Given the description of an element on the screen output the (x, y) to click on. 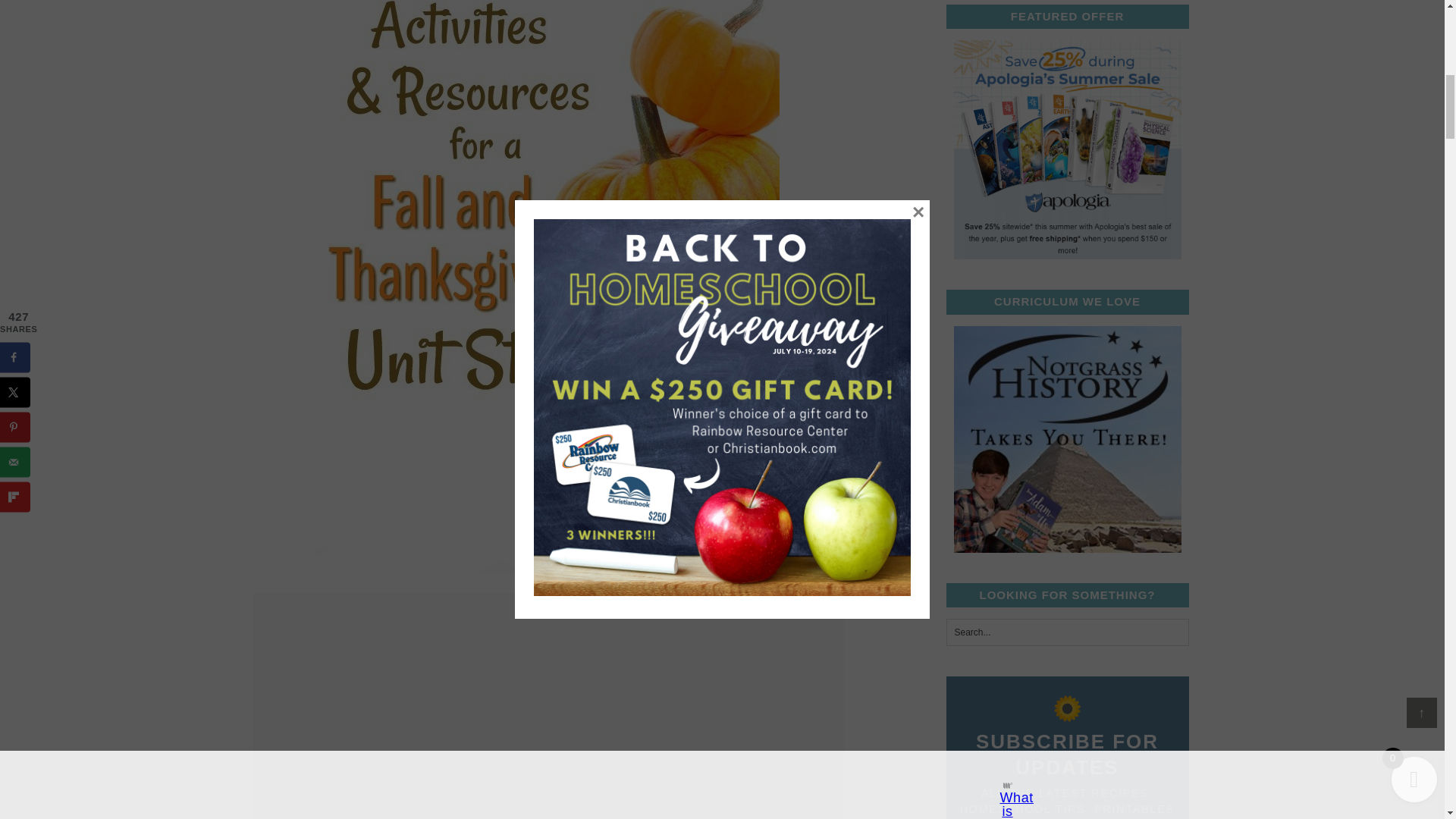
3rd party ad content (547, 611)
